Given the description of an element on the screen output the (x, y) to click on. 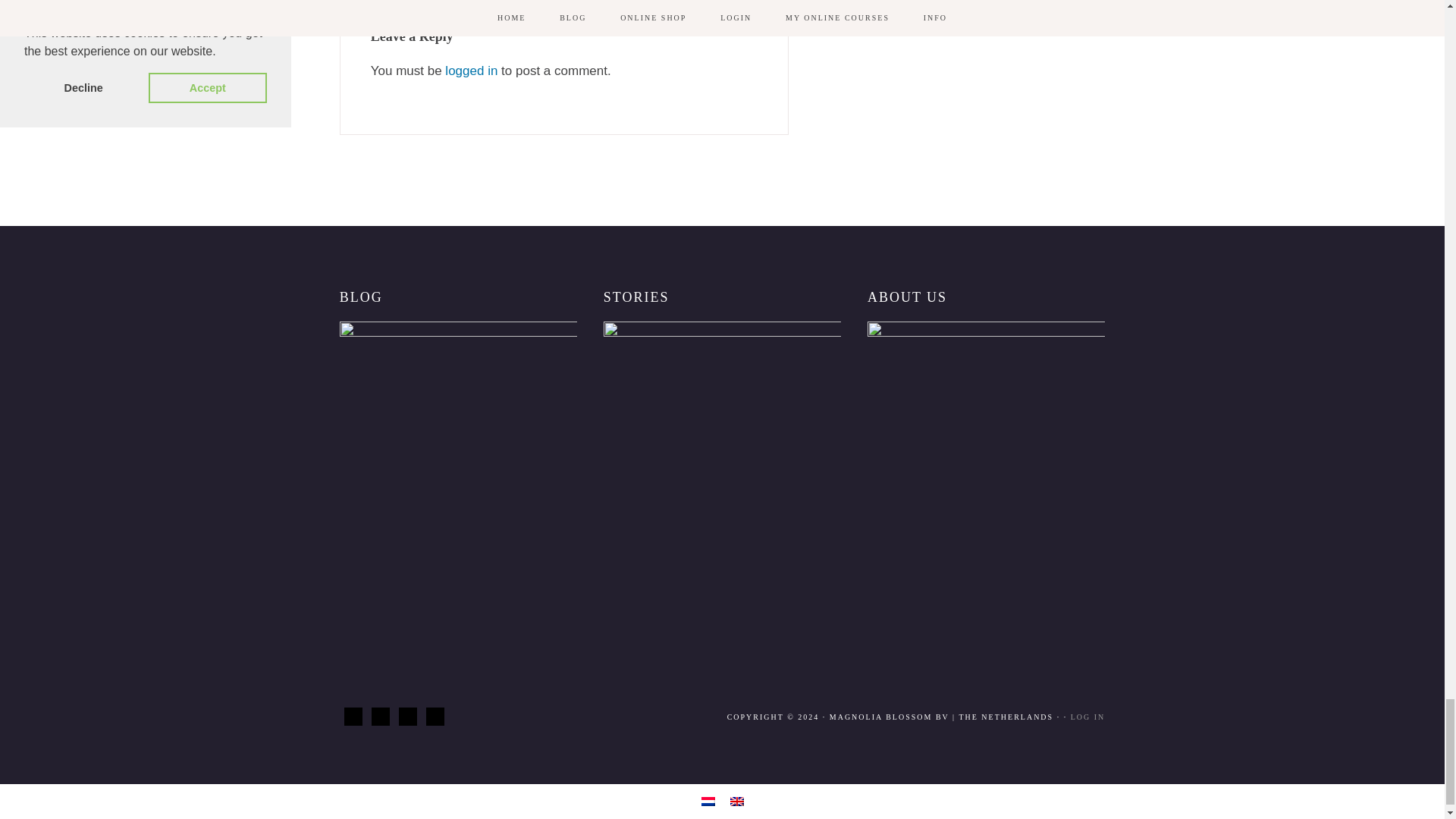
STORIES (722, 410)
